Given the description of an element on the screen output the (x, y) to click on. 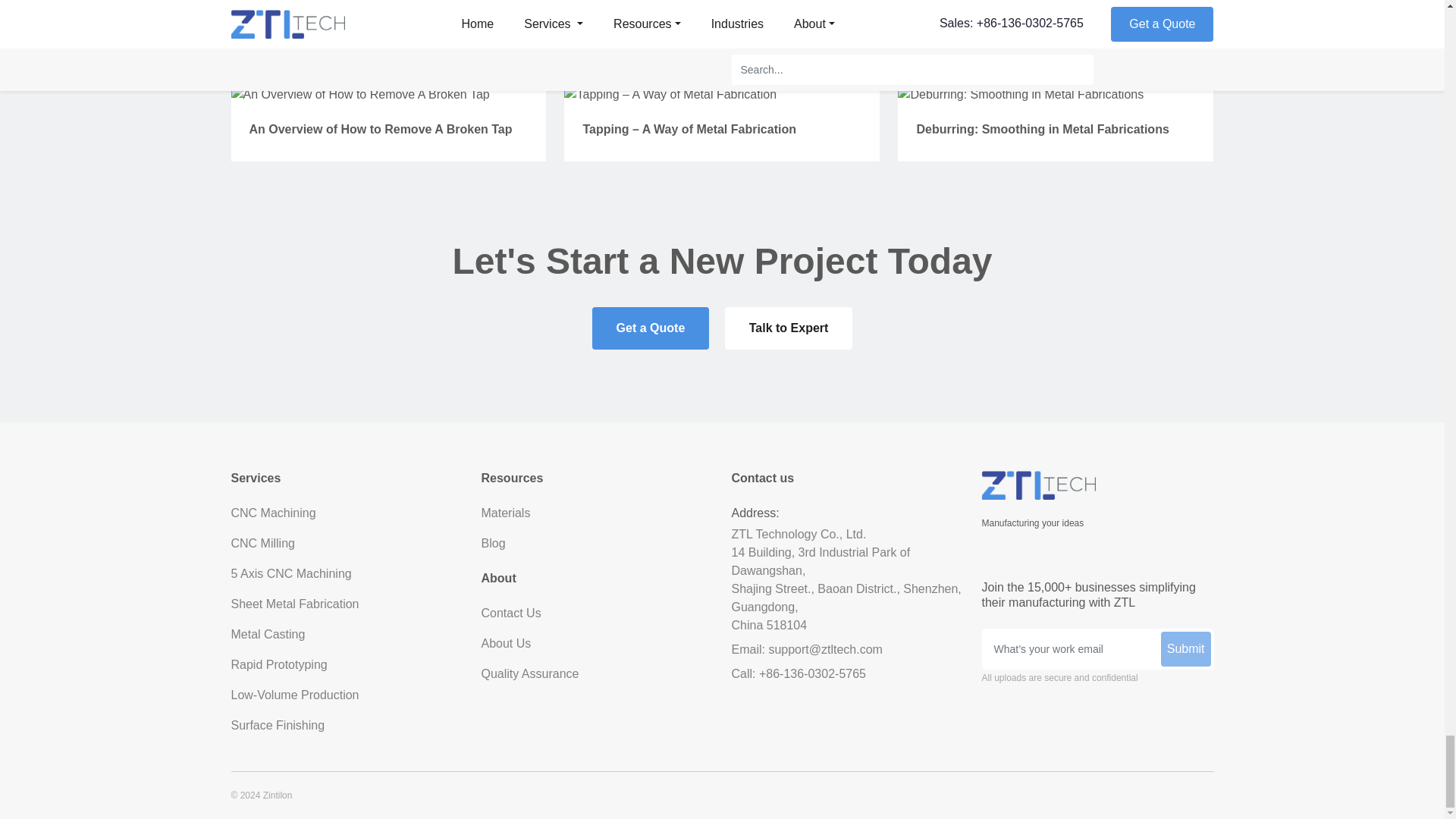
Submit (1185, 648)
